Given the description of an element on the screen output the (x, y) to click on. 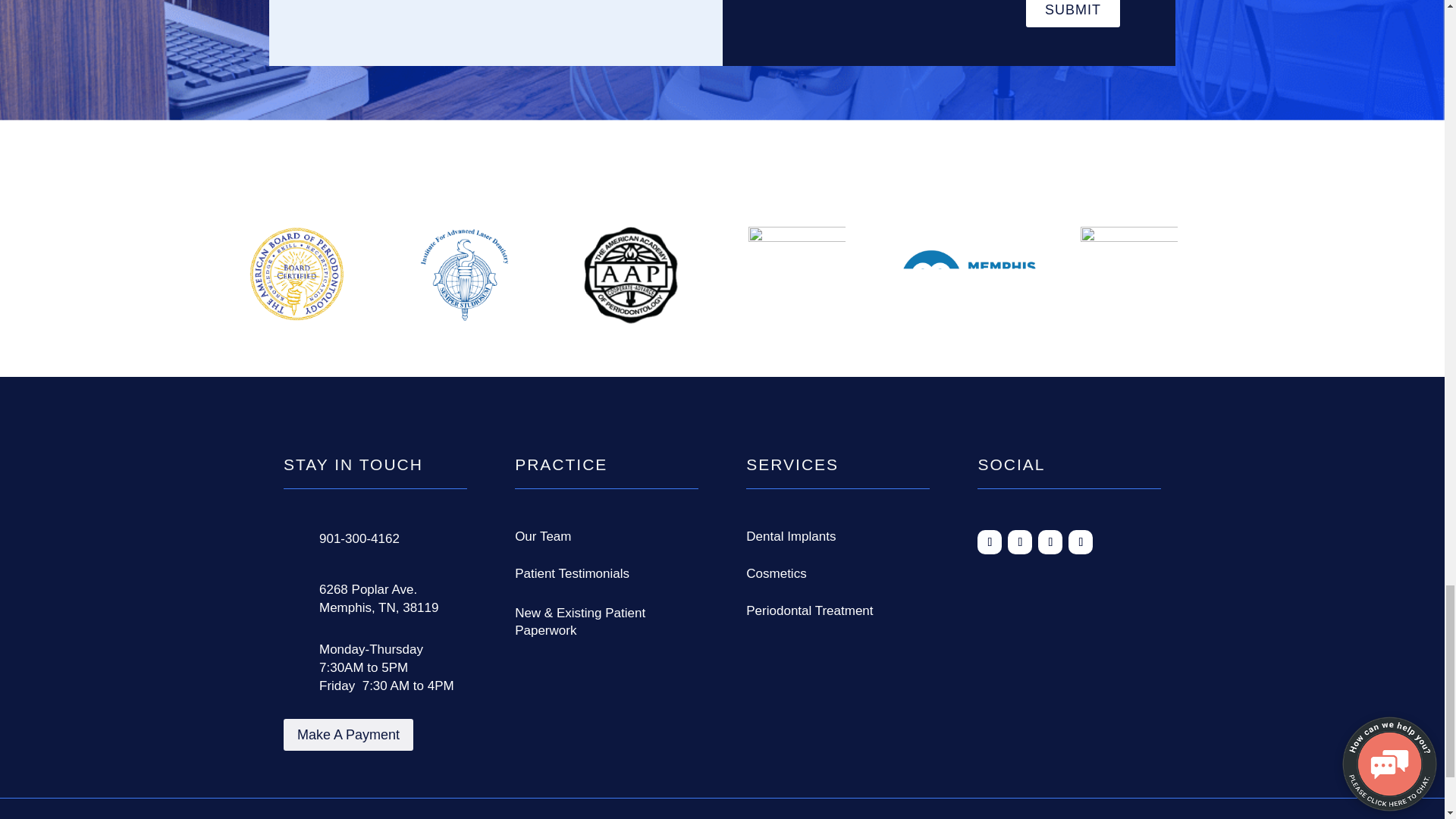
Follow on Facebook (988, 541)
AWARDS footer-39 (967, 281)
AWARDS footer-37 (630, 274)
AWARDS footer-35 (297, 274)
Follow on Google (1019, 541)
Follow on Youtube (1080, 541)
AWARDS footer-40 (1128, 278)
Follow on Instagram (1050, 541)
AWARDS footer-36 (463, 274)
AWARDS footer-38 (796, 278)
